Given the description of an element on the screen output the (x, y) to click on. 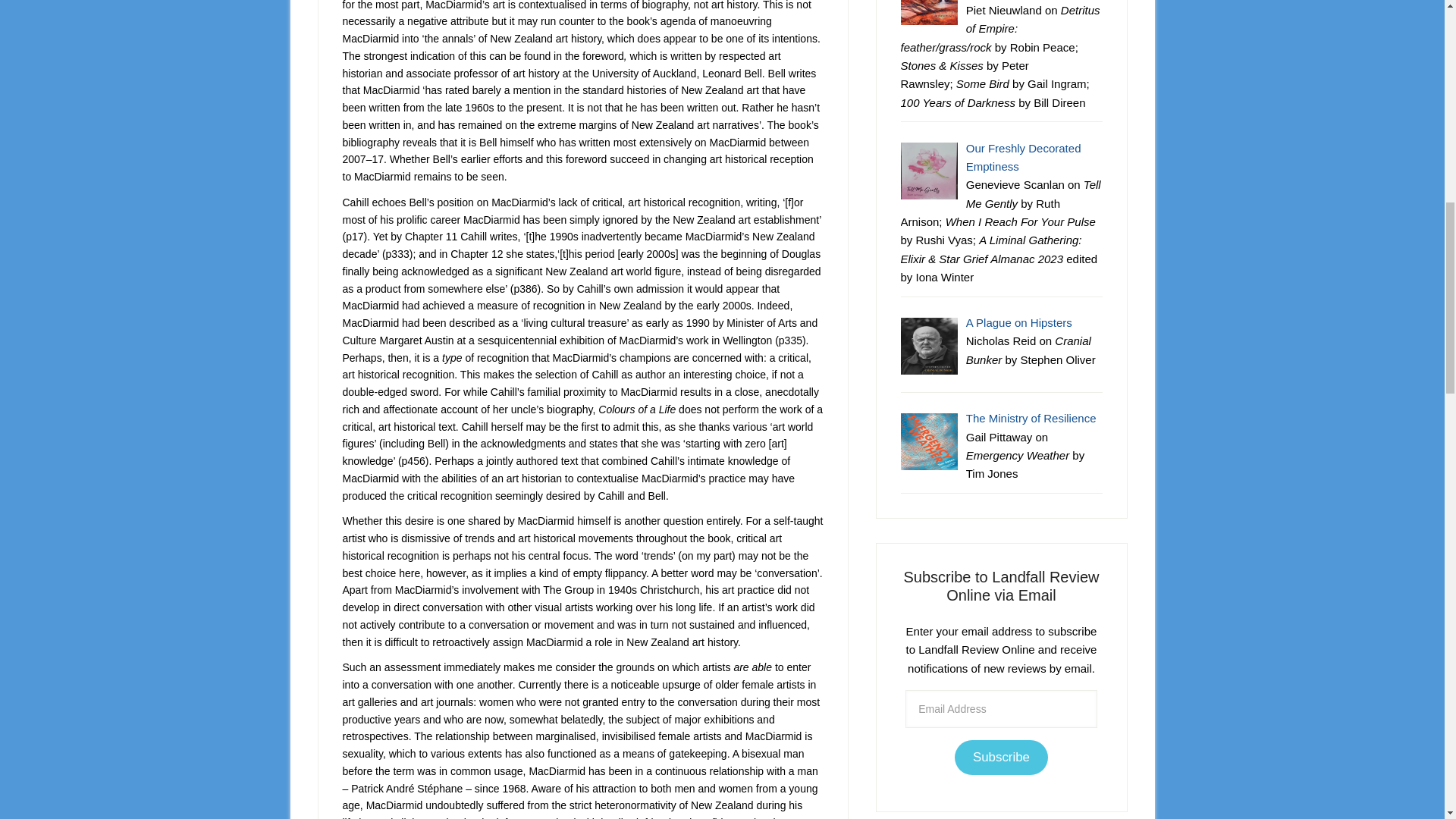
Our Freshly Decorated Emptiness (1023, 155)
Subscribe (1001, 757)
A Plague on Hipsters (1018, 322)
The Ministry of Resilience (1031, 418)
